Given the description of an element on the screen output the (x, y) to click on. 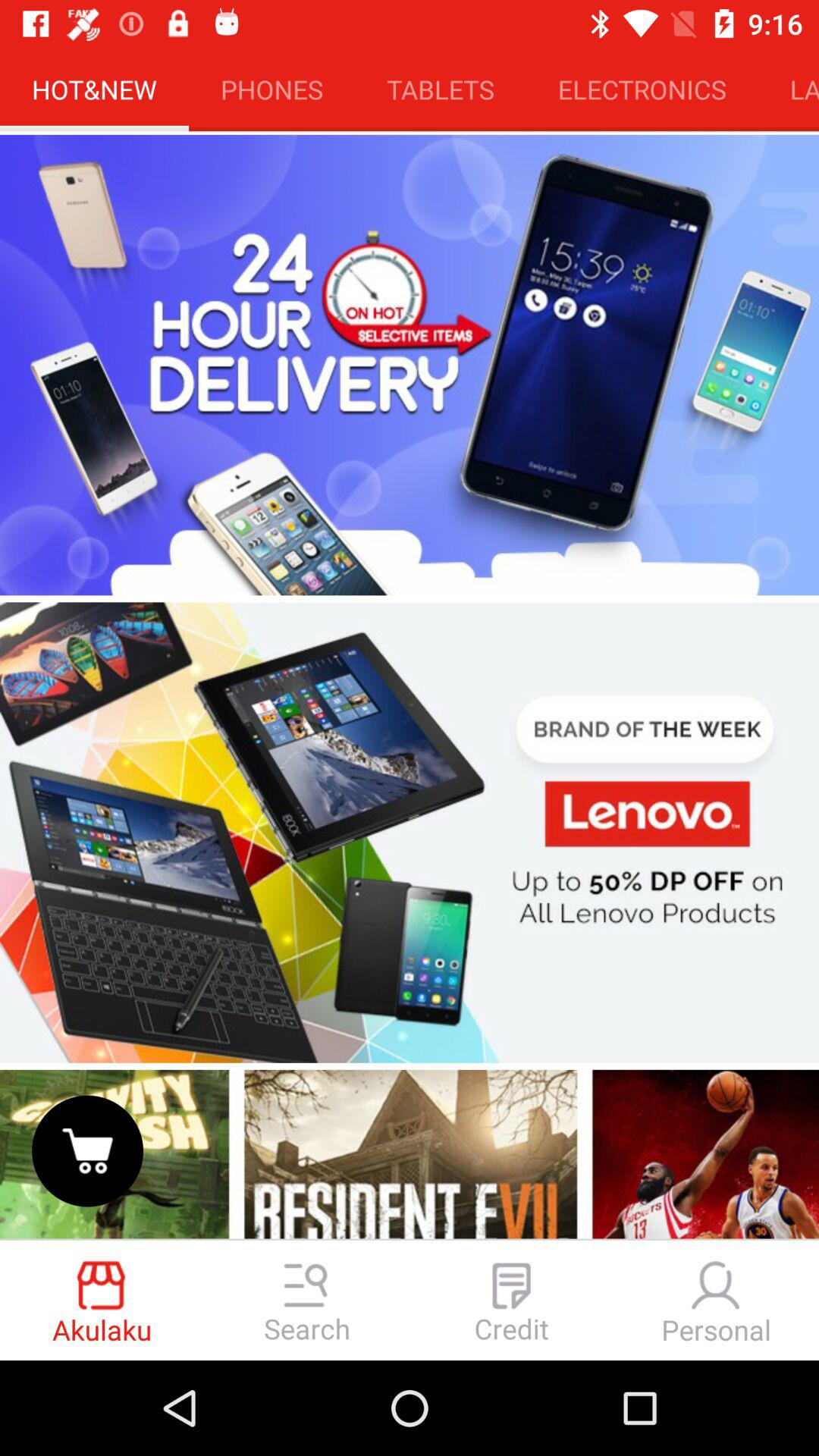
tab to open image (409, 832)
